Given the description of an element on the screen output the (x, y) to click on. 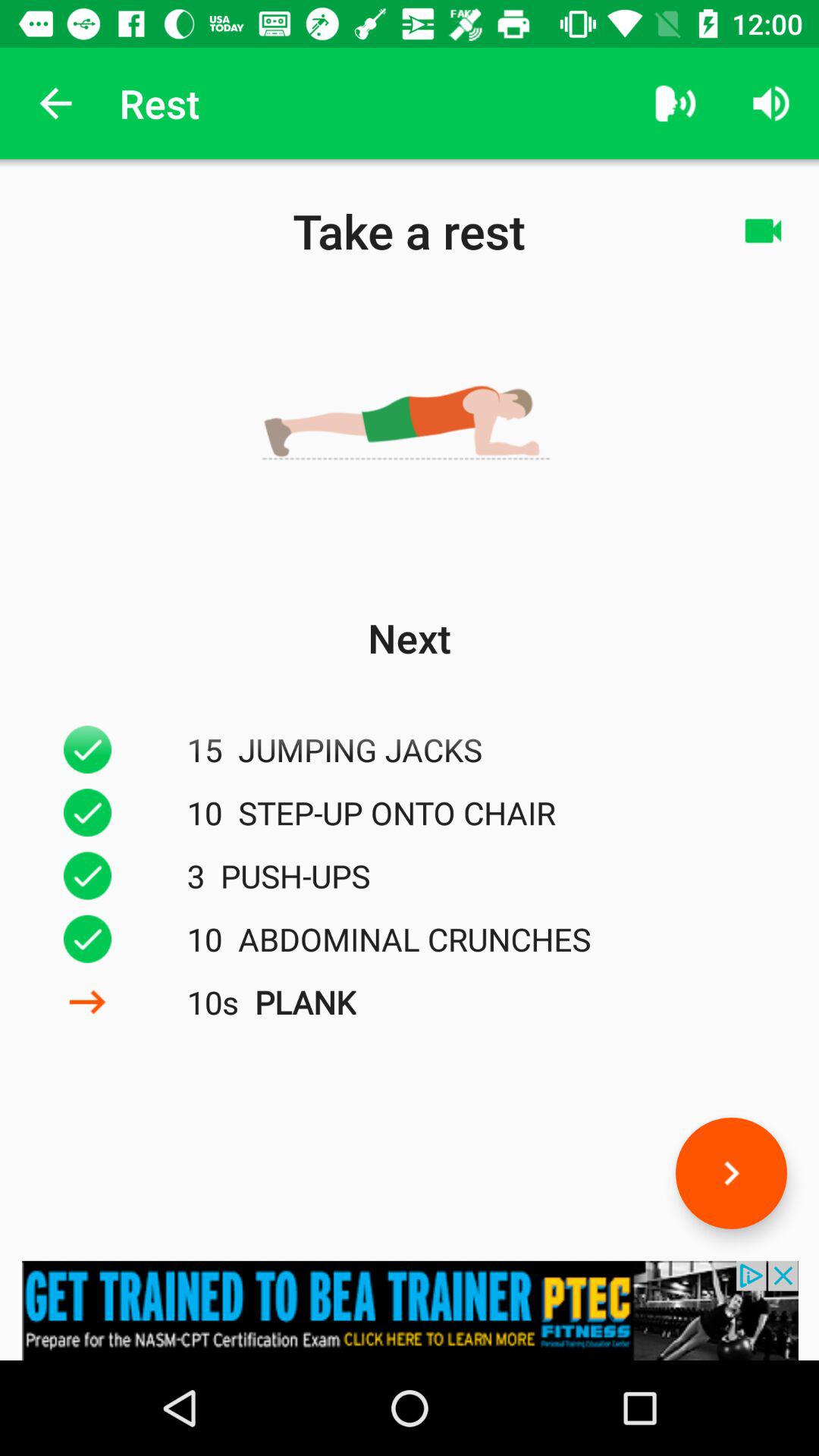
opens up advertisement (409, 1310)
